Given the description of an element on the screen output the (x, y) to click on. 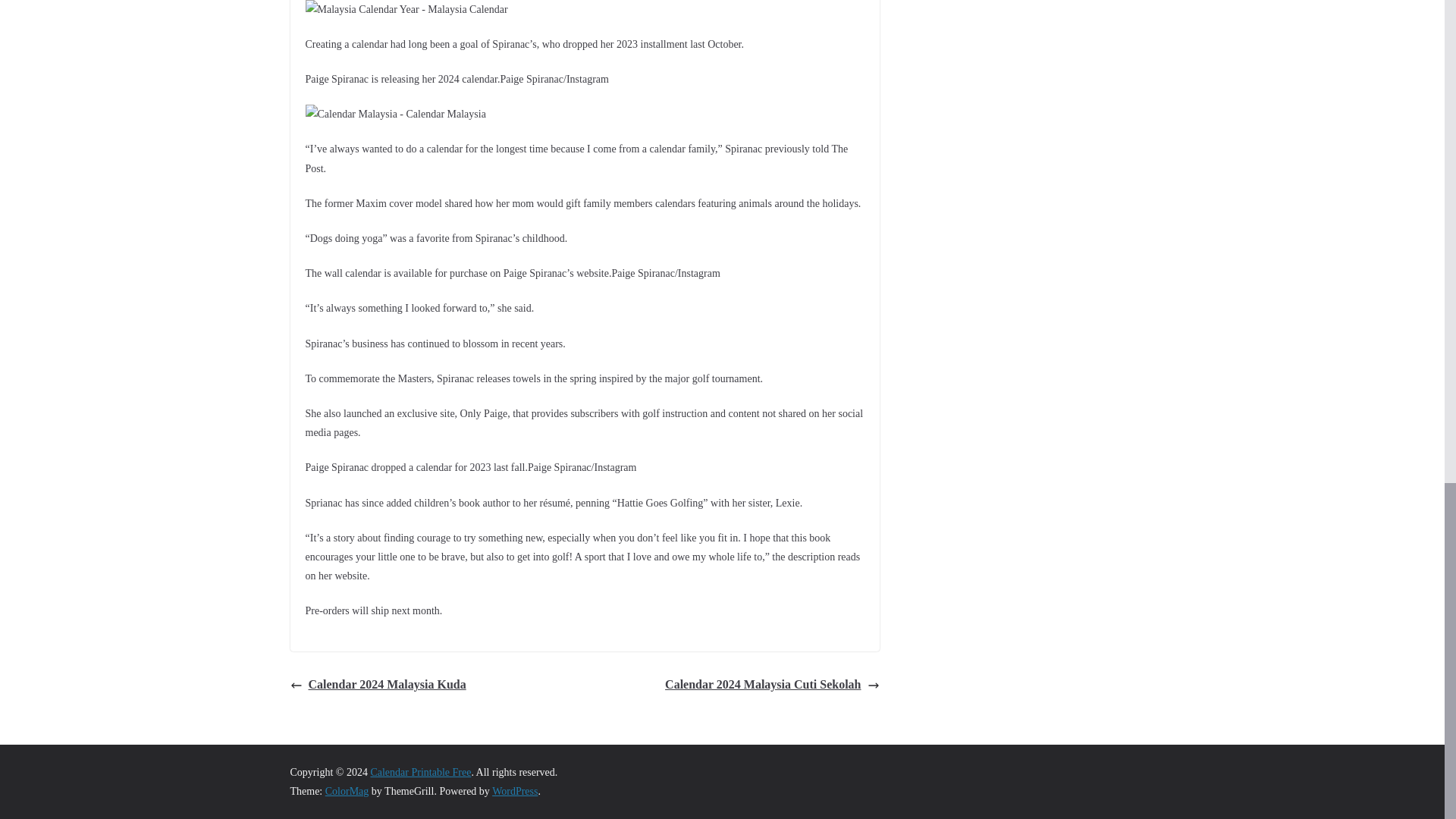
Calendar 2024 Malaysia Kuda (377, 685)
Calendar 2024 Malaysia Cuti Sekolah (772, 685)
Calendar Printable Free (419, 772)
Calendar Printable Free (419, 772)
ColorMag (346, 790)
WordPress (514, 790)
ColorMag (346, 790)
WordPress (514, 790)
Malaysia Calendar Year  - Malaysia Calendar (405, 9)
Calendar Malaysia - Calendar Malaysia (394, 113)
